Given the description of an element on the screen output the (x, y) to click on. 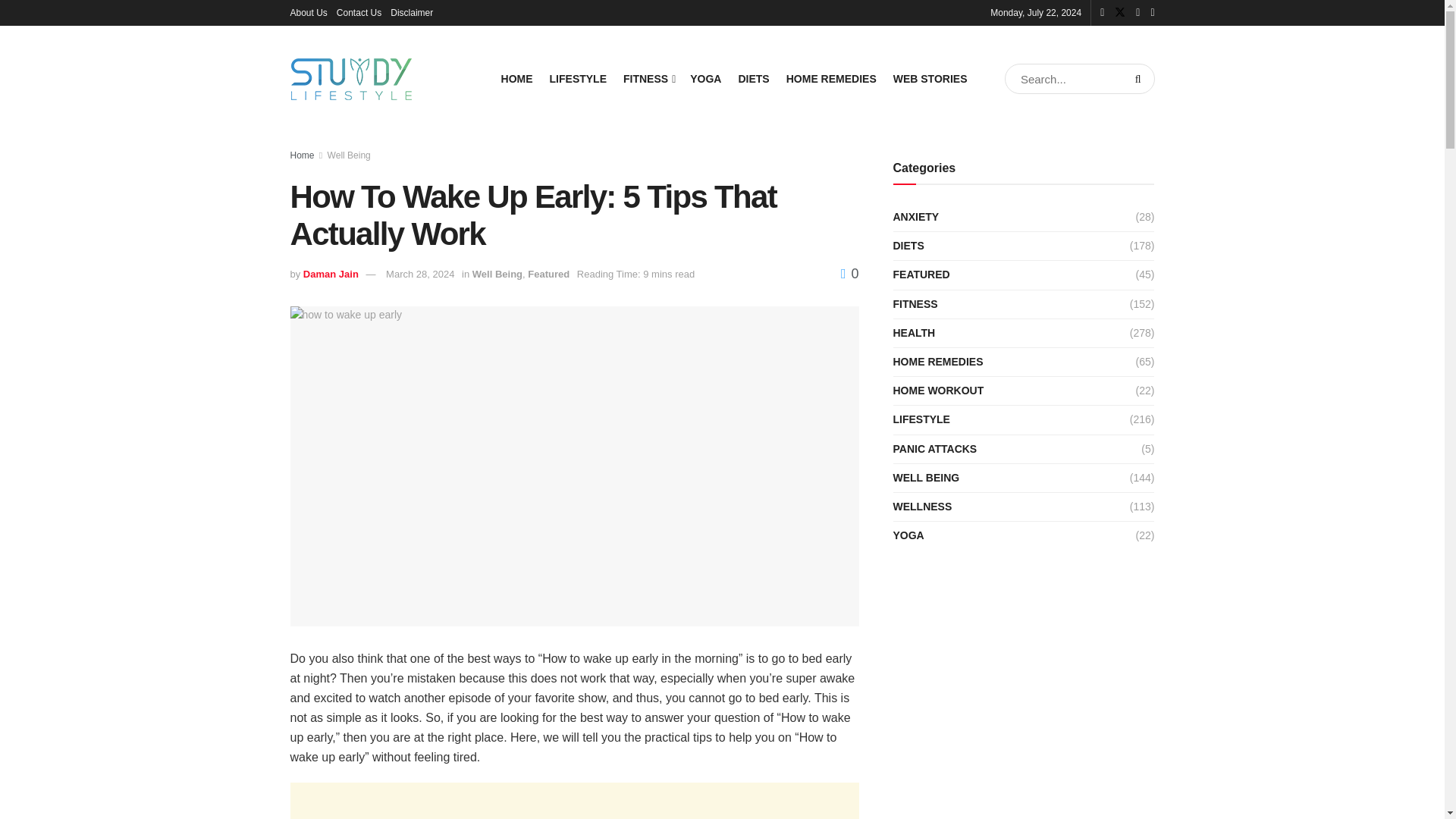
About Us (307, 12)
HOME REMEDIES (831, 78)
LIFESTYLE (578, 78)
DIETS (753, 78)
YOGA (705, 78)
Advertisement (574, 800)
FITNESS (647, 78)
WEB STORIES (930, 78)
HOME (516, 78)
Contact Us (358, 12)
Disclaimer (411, 12)
